Given the description of an element on the screen output the (x, y) to click on. 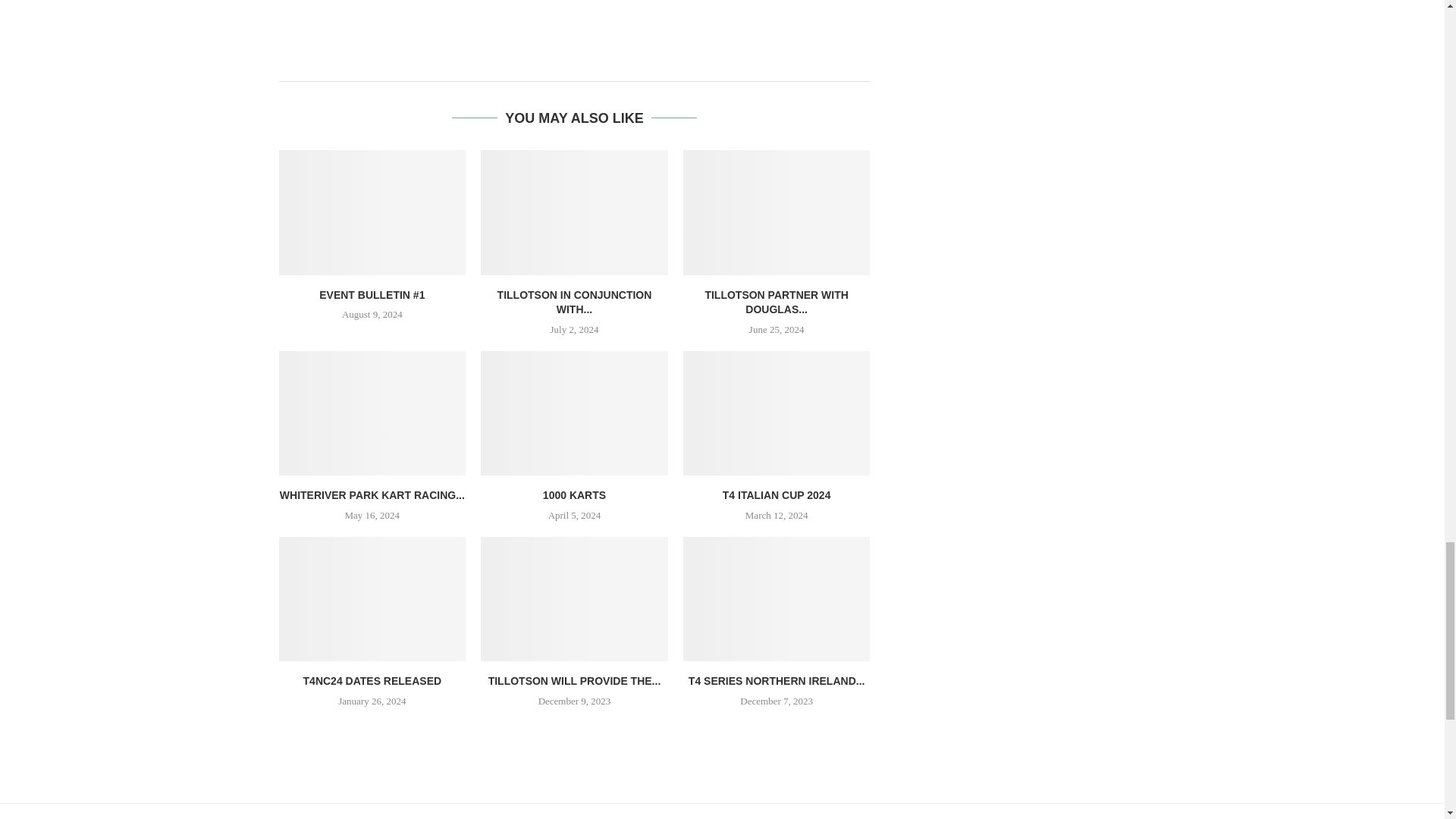
1000 Karts (574, 413)
T4 Series Northern Ireland Dealer (776, 598)
Tillotson will provide the on-track support for WSK (574, 598)
T4 Italian Cup 2024 (776, 413)
T4NC24 DATES RELEASED (372, 598)
